Given the description of an element on the screen output the (x, y) to click on. 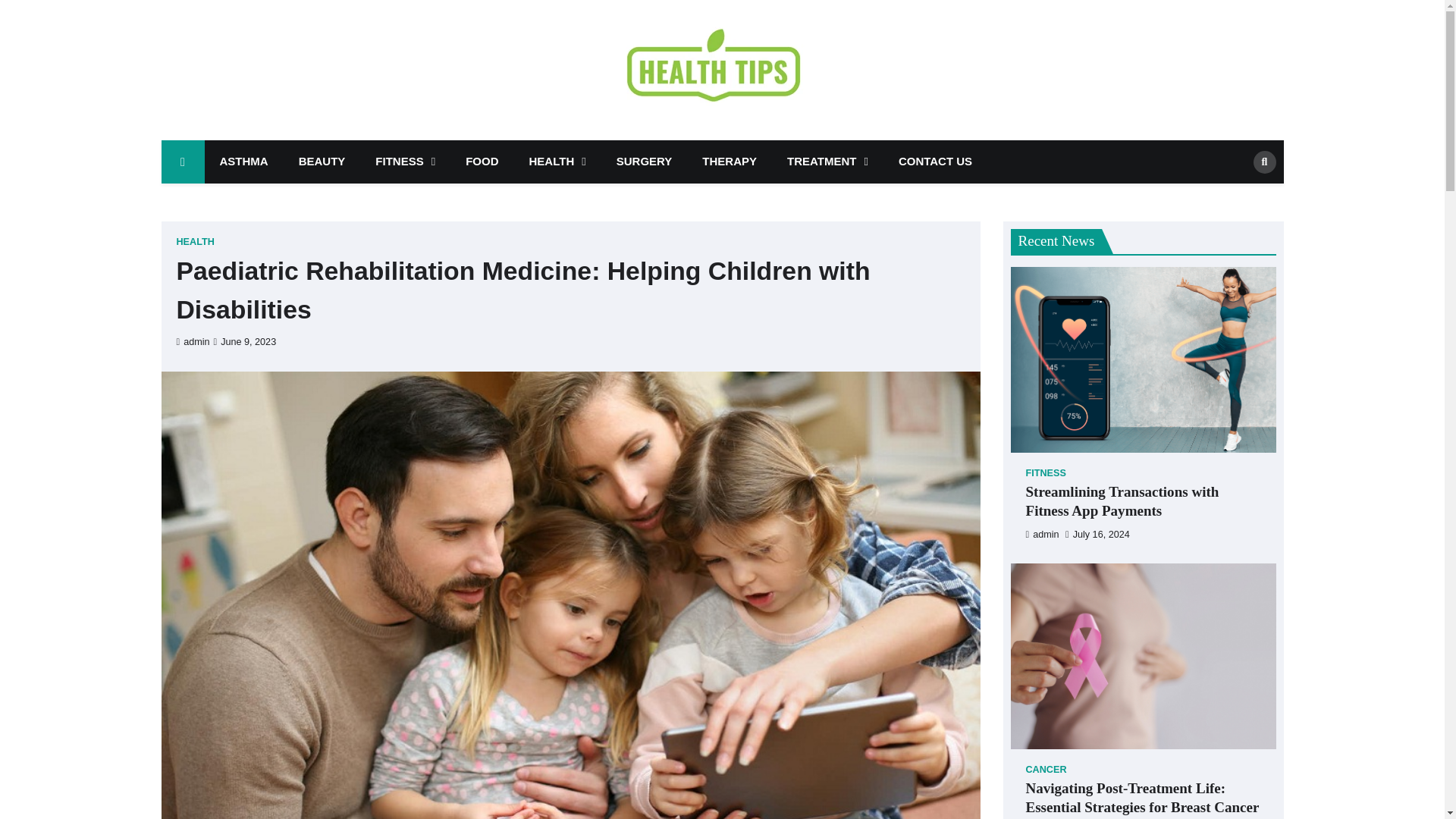
June 9, 2023 (245, 341)
FOOD (481, 161)
Search (1263, 160)
SURGERY (644, 161)
BEAUTY (322, 161)
FITNESS (404, 161)
admin (192, 341)
ASTHMA (244, 161)
CONTACT US (935, 161)
Search (1238, 194)
THERAPY (729, 161)
HEALTH (557, 161)
HEALTH (195, 242)
TREATMENT (827, 161)
